Given the description of an element on the screen output the (x, y) to click on. 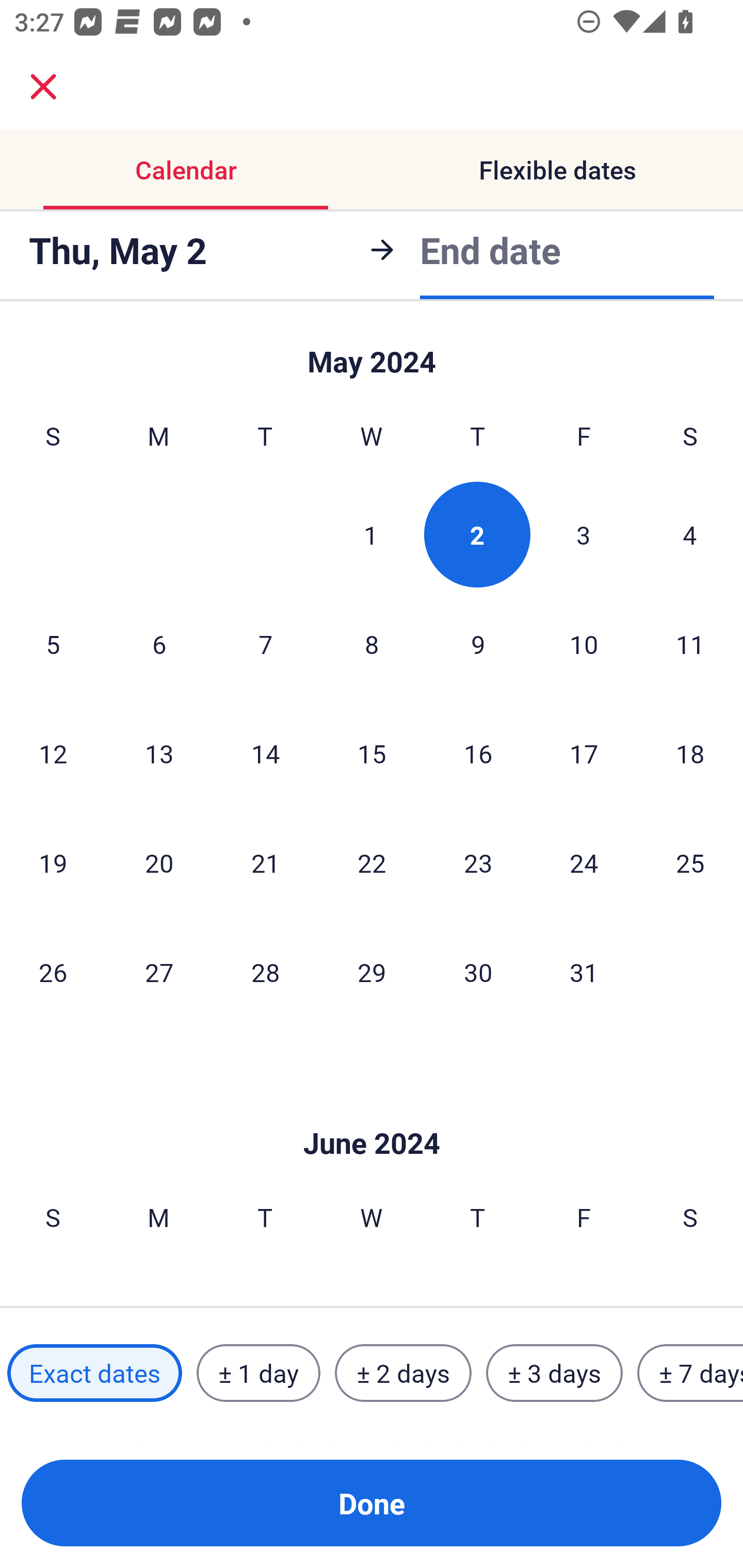
close. (43, 86)
Flexible dates (557, 170)
End date (489, 247)
Skip to Done (371, 352)
1 Wednesday, May 1, 2024 (371, 534)
3 Friday, May 3, 2024 (583, 534)
4 Saturday, May 4, 2024 (689, 534)
5 Sunday, May 5, 2024 (53, 643)
6 Monday, May 6, 2024 (159, 643)
7 Tuesday, May 7, 2024 (265, 643)
8 Wednesday, May 8, 2024 (371, 643)
9 Thursday, May 9, 2024 (477, 643)
10 Friday, May 10, 2024 (584, 643)
11 Saturday, May 11, 2024 (690, 643)
12 Sunday, May 12, 2024 (53, 752)
13 Monday, May 13, 2024 (159, 752)
14 Tuesday, May 14, 2024 (265, 752)
15 Wednesday, May 15, 2024 (371, 752)
16 Thursday, May 16, 2024 (477, 752)
17 Friday, May 17, 2024 (584, 752)
18 Saturday, May 18, 2024 (690, 752)
19 Sunday, May 19, 2024 (53, 862)
20 Monday, May 20, 2024 (159, 862)
21 Tuesday, May 21, 2024 (265, 862)
22 Wednesday, May 22, 2024 (371, 862)
23 Thursday, May 23, 2024 (477, 862)
24 Friday, May 24, 2024 (584, 862)
25 Saturday, May 25, 2024 (690, 862)
26 Sunday, May 26, 2024 (53, 971)
27 Monday, May 27, 2024 (159, 971)
28 Tuesday, May 28, 2024 (265, 971)
29 Wednesday, May 29, 2024 (371, 971)
30 Thursday, May 30, 2024 (477, 971)
31 Friday, May 31, 2024 (584, 971)
Skip to Done (371, 1112)
Exact dates (94, 1372)
± 1 day (258, 1372)
± 2 days (403, 1372)
± 3 days (553, 1372)
± 7 days (690, 1372)
Done (371, 1502)
